Given the description of an element on the screen output the (x, y) to click on. 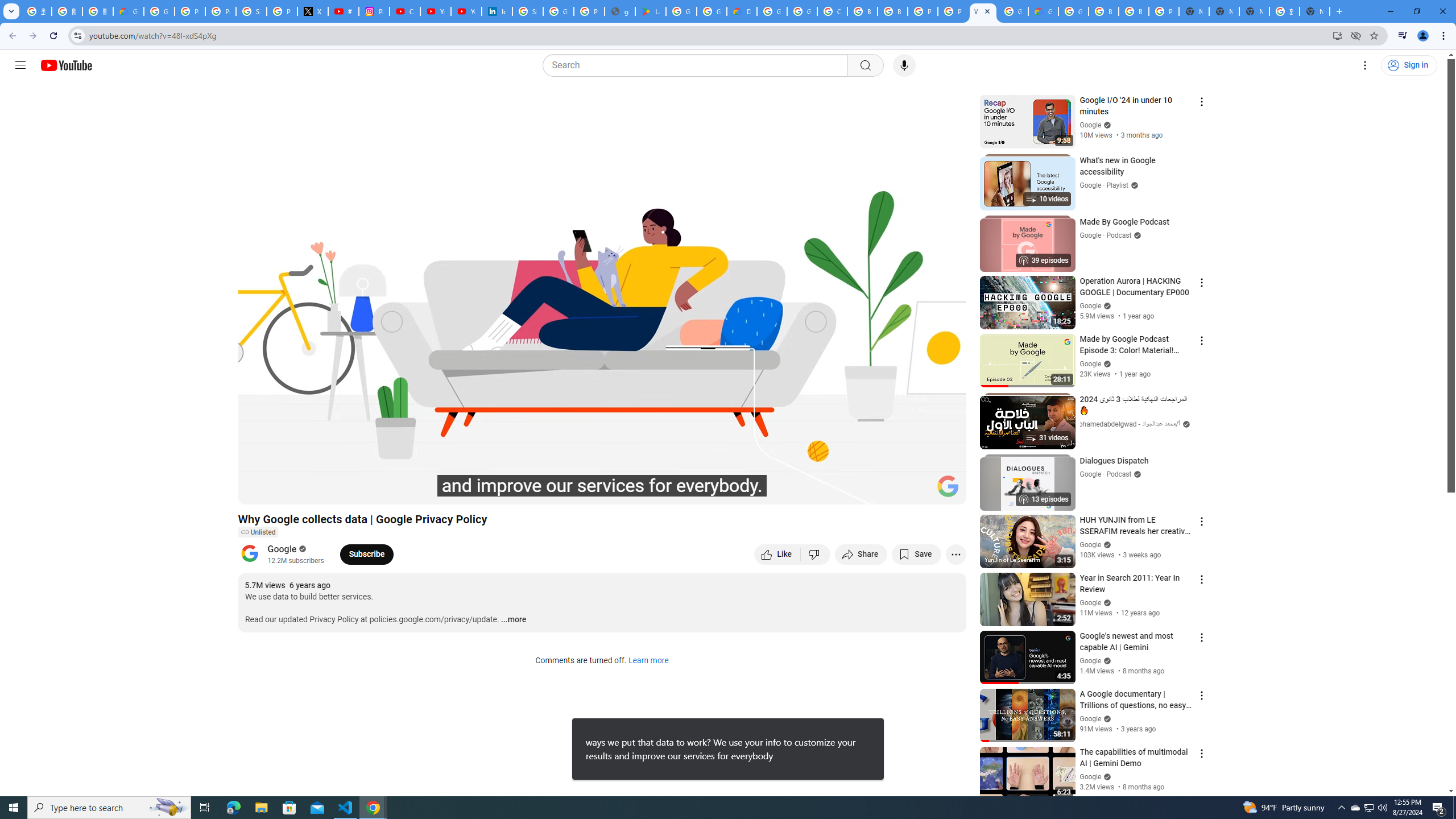
Privacy Help Center - Policies Help (220, 11)
Seek slider (601, 476)
Next (SHIFT+n) (284, 490)
New Tab (1314, 11)
Google Cloud Platform (771, 11)
Subtitles/closed captions unavailable (836, 490)
Share (861, 554)
Channel watermark (947, 486)
